Given the description of an element on the screen output the (x, y) to click on. 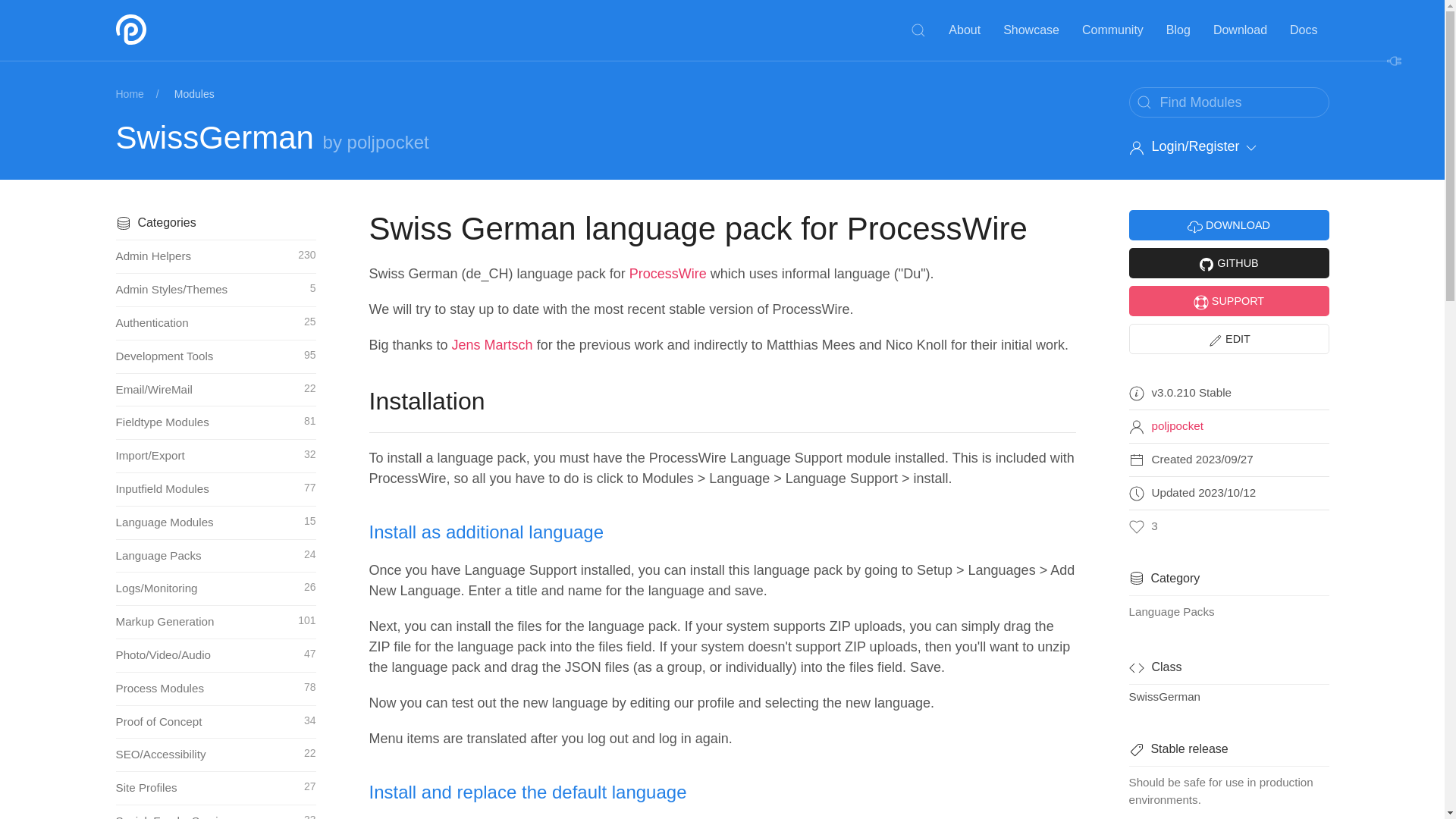
Showcase (1030, 30)
Download (1240, 30)
Community (1112, 30)
About (964, 30)
ProcessWire (190, 30)
